Given the description of an element on the screen output the (x, y) to click on. 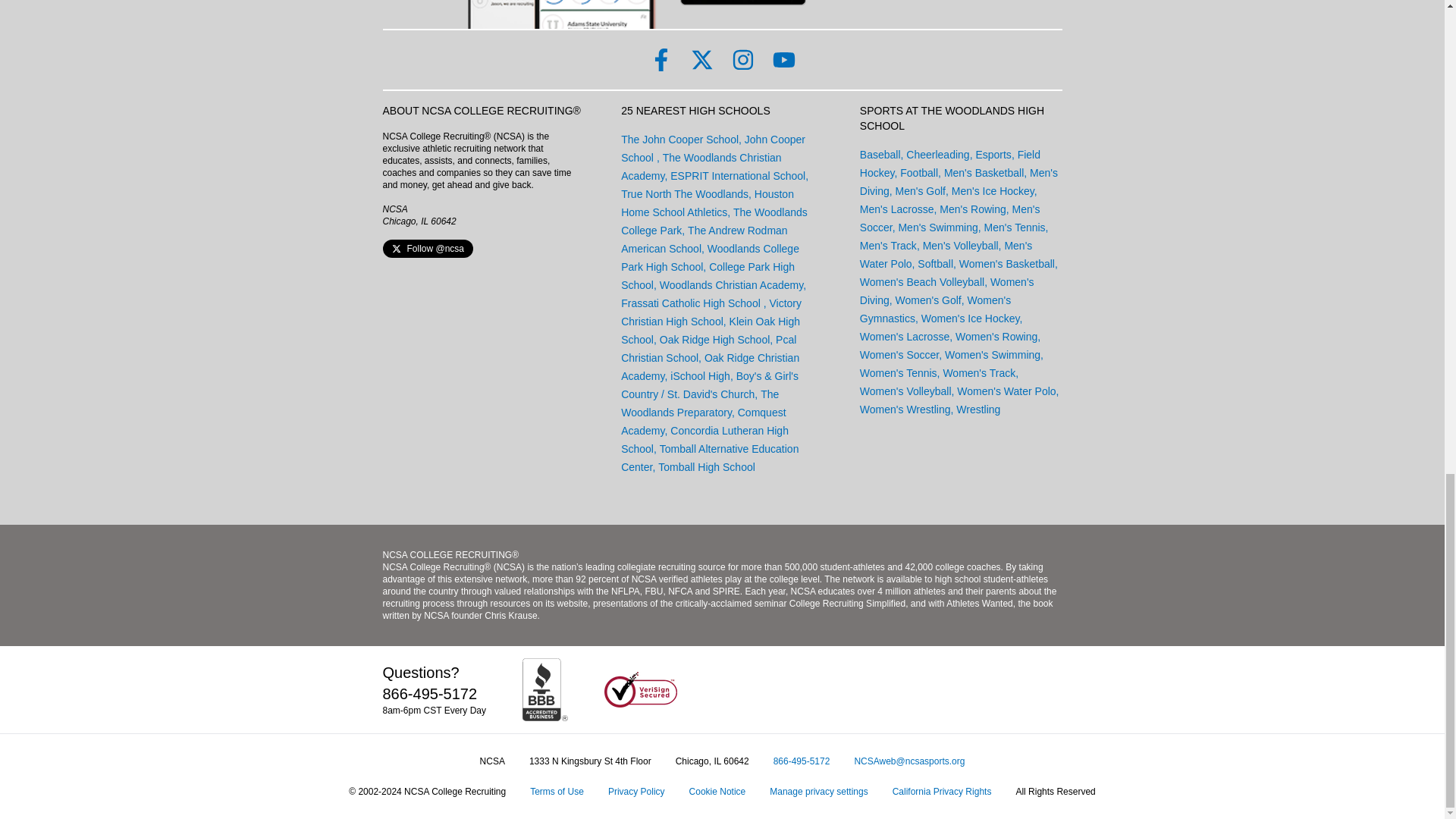
True North The Woodlands (684, 193)
Follow us on YouTube. (782, 59)
Houston Home School Athletics (707, 203)
ESPRIT International School (737, 175)
Follow us on Facebook. (660, 59)
Follow us on X. (701, 59)
The Andrew Rodman American School (704, 239)
The John Cooper School (679, 139)
John Cooper School (713, 148)
Follow us on Instagram. (742, 59)
The Woodlands College Park (714, 221)
The Woodlands Christian Academy (700, 166)
